Given the description of an element on the screen output the (x, y) to click on. 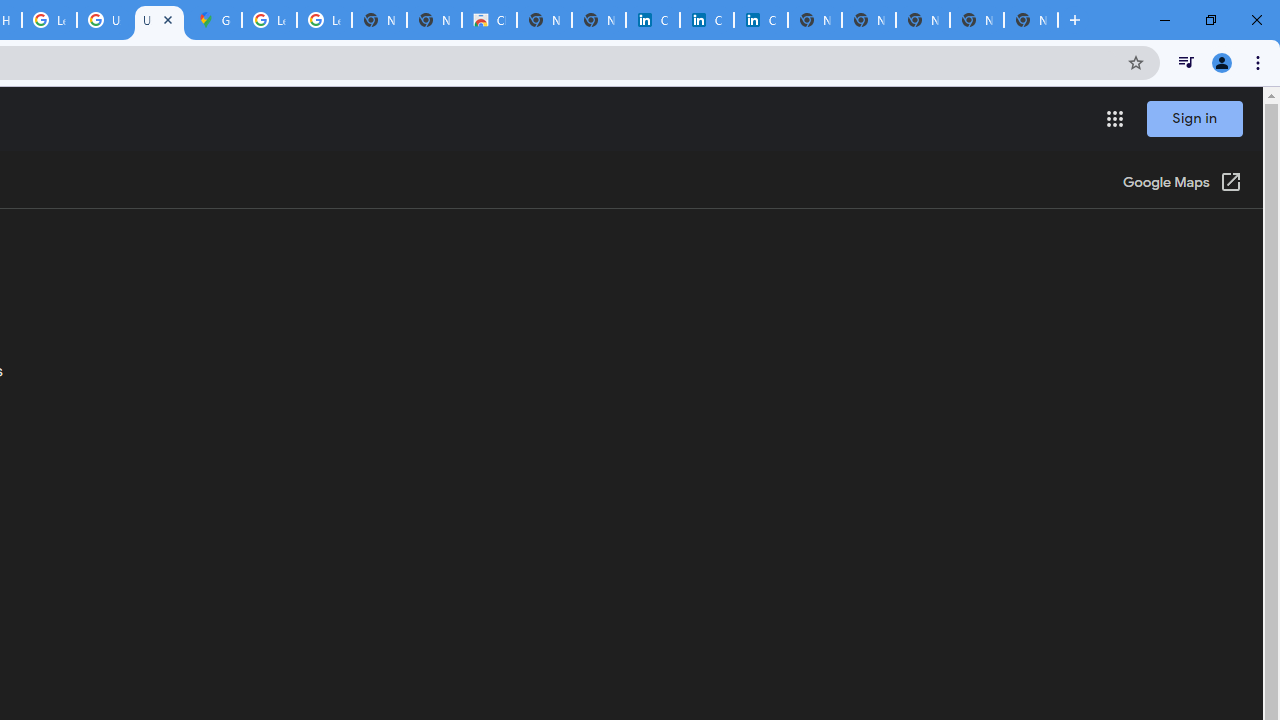
Google Maps (213, 20)
Copyright Policy (760, 20)
